Given the description of an element on the screen output the (x, y) to click on. 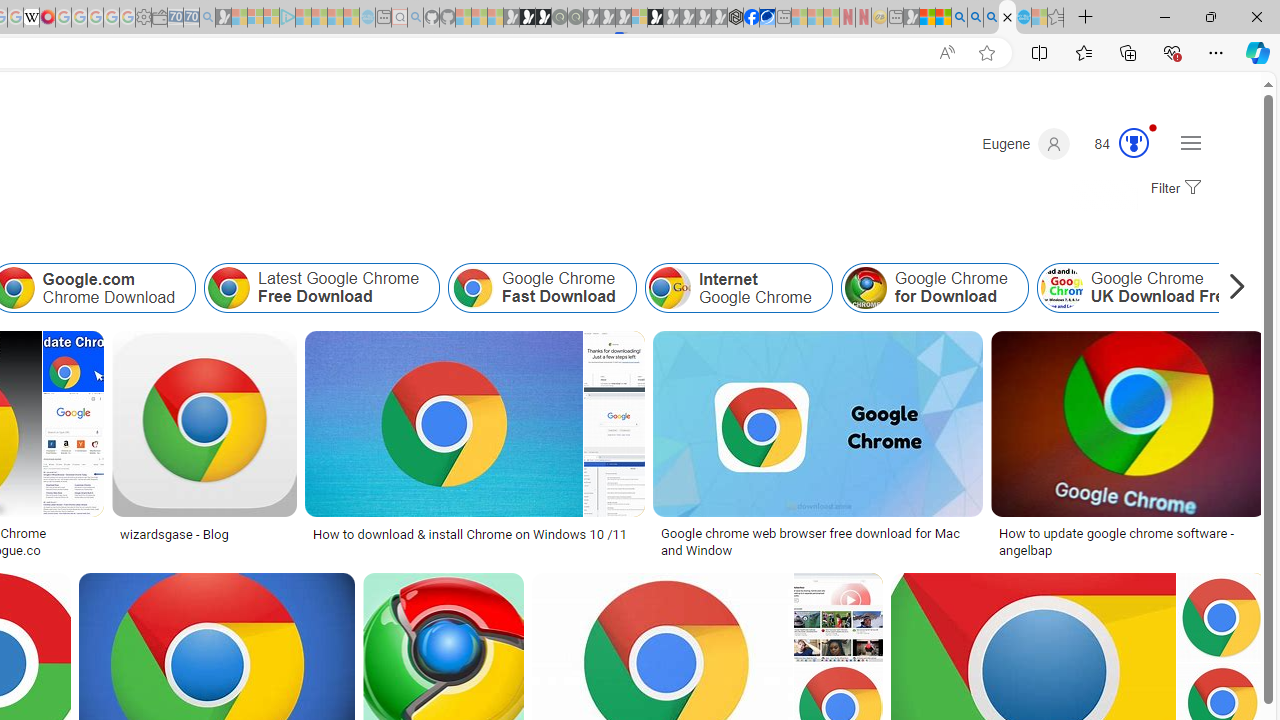
Internet Google Chrome (738, 287)
Bing AI - Search (959, 17)
Settings and quick links (1190, 142)
Google Chrome for Download (865, 287)
How to download & install Chrome on Windows 10 /11 (475, 533)
How to download & install Chrome on Windows 10 /11 (470, 533)
Sign in to your account - Sleeping (639, 17)
